Given the description of an element on the screen output the (x, y) to click on. 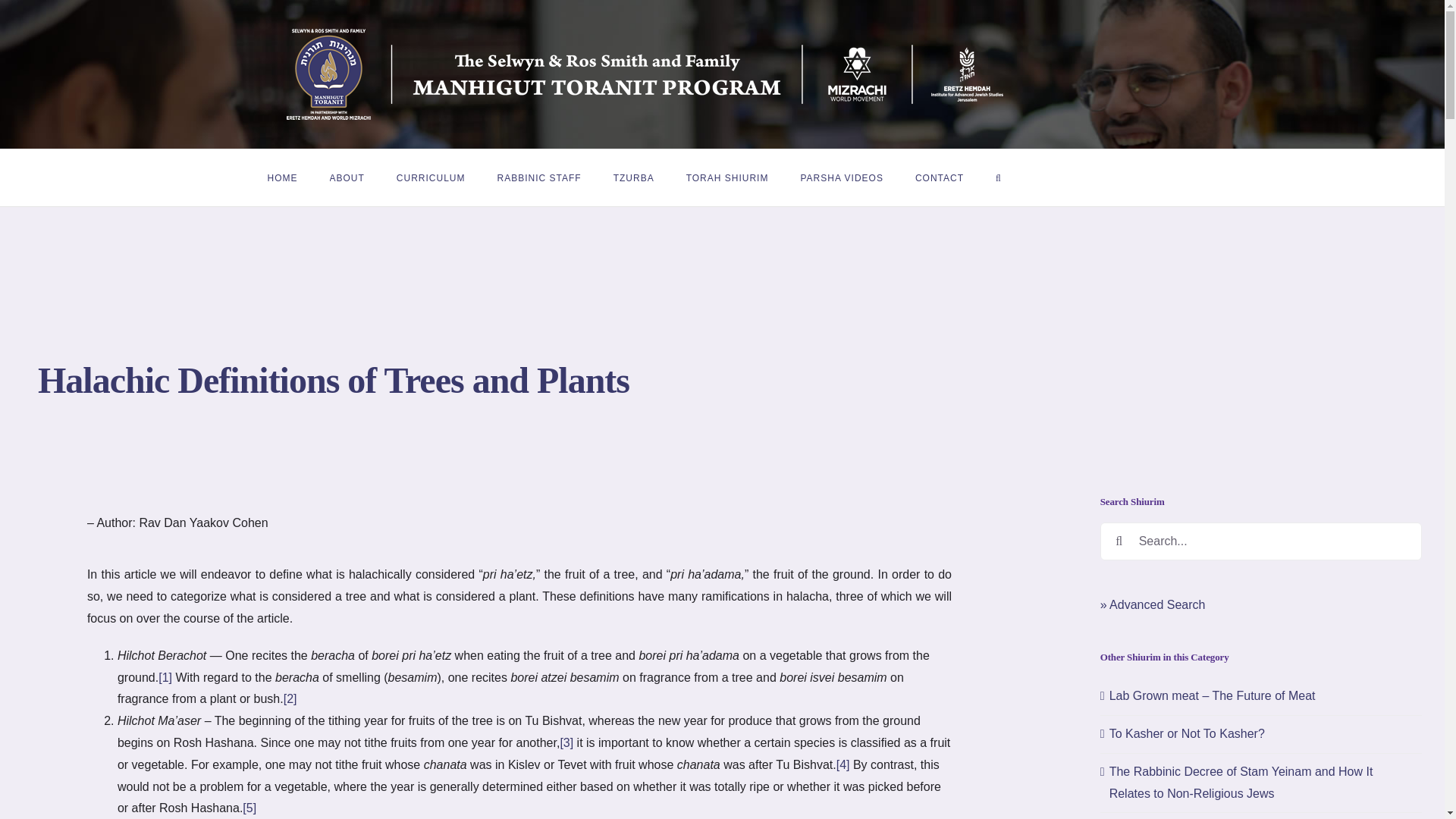
CURRICULUM (430, 177)
PARSHA VIDEOS (840, 177)
TORAH SHIURIM (726, 177)
RABBINIC STAFF (538, 177)
